Given the description of an element on the screen output the (x, y) to click on. 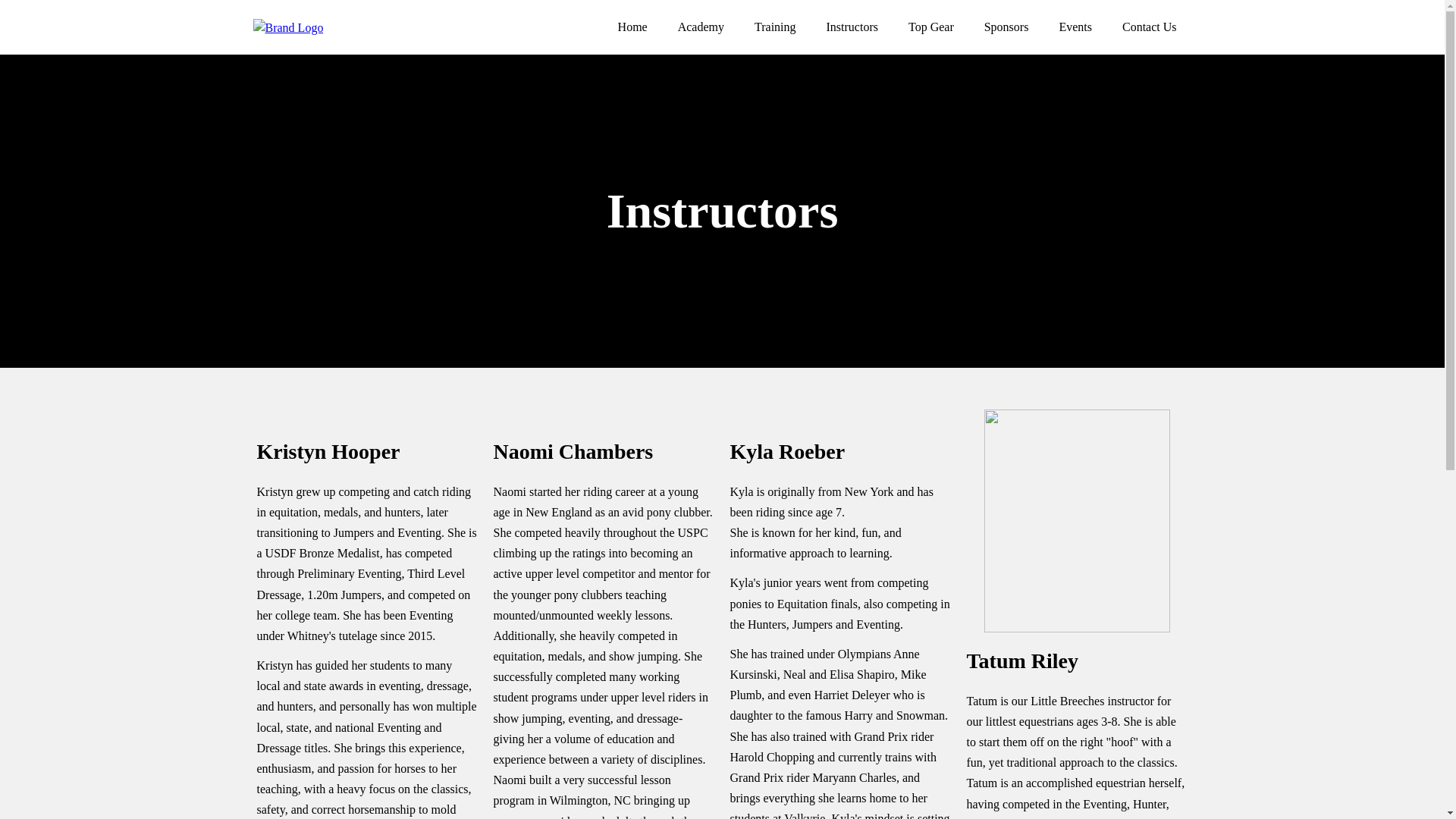
Training (774, 27)
Sponsors (1006, 27)
Events (1074, 27)
Contact Us (1149, 27)
Academy (700, 27)
Home (632, 27)
Top Gear (931, 27)
Instructors (851, 27)
